Given the description of an element on the screen output the (x, y) to click on. 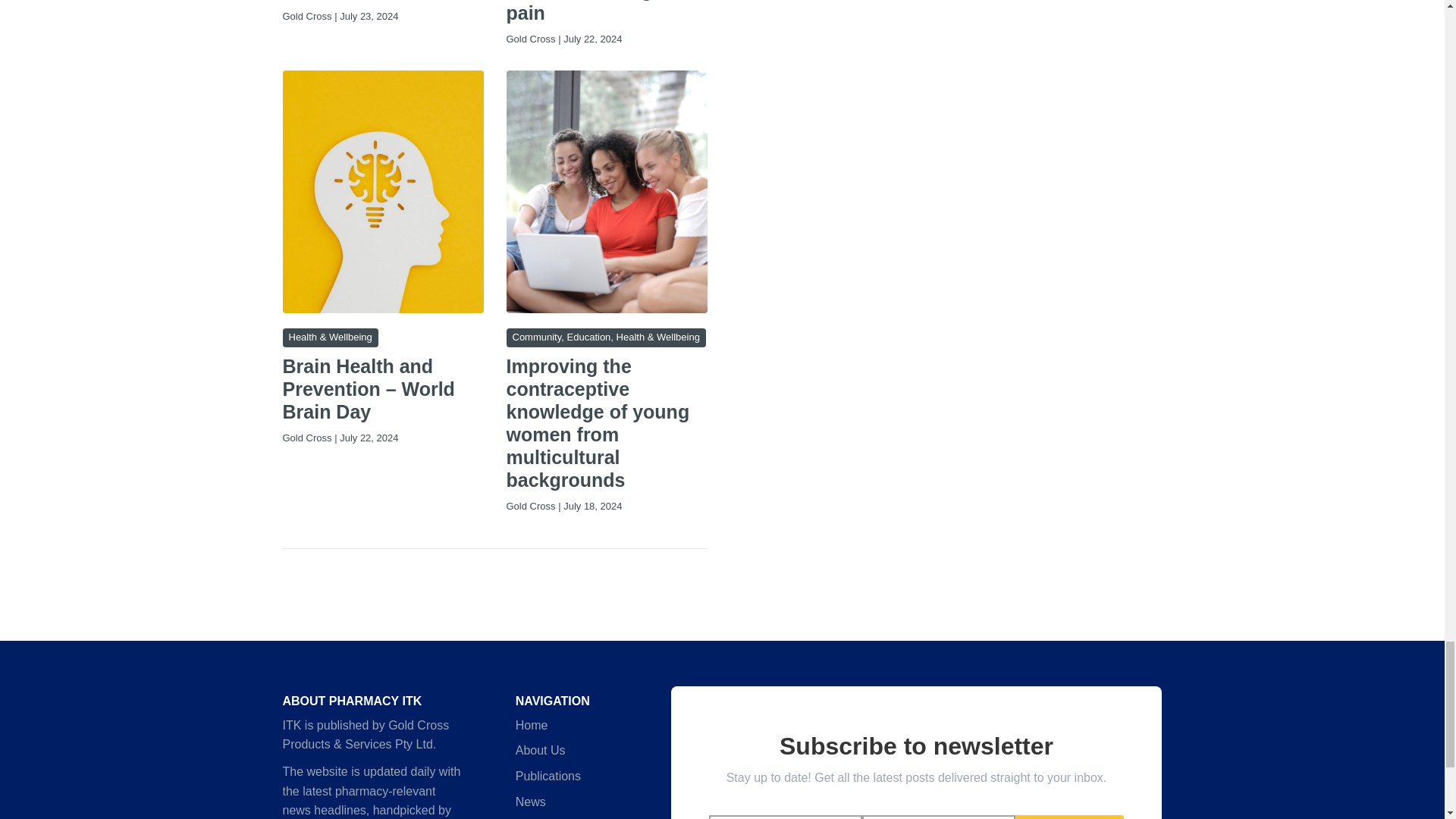
Gold Cross (306, 16)
Subscribe (1069, 816)
